Given the description of an element on the screen output the (x, y) to click on. 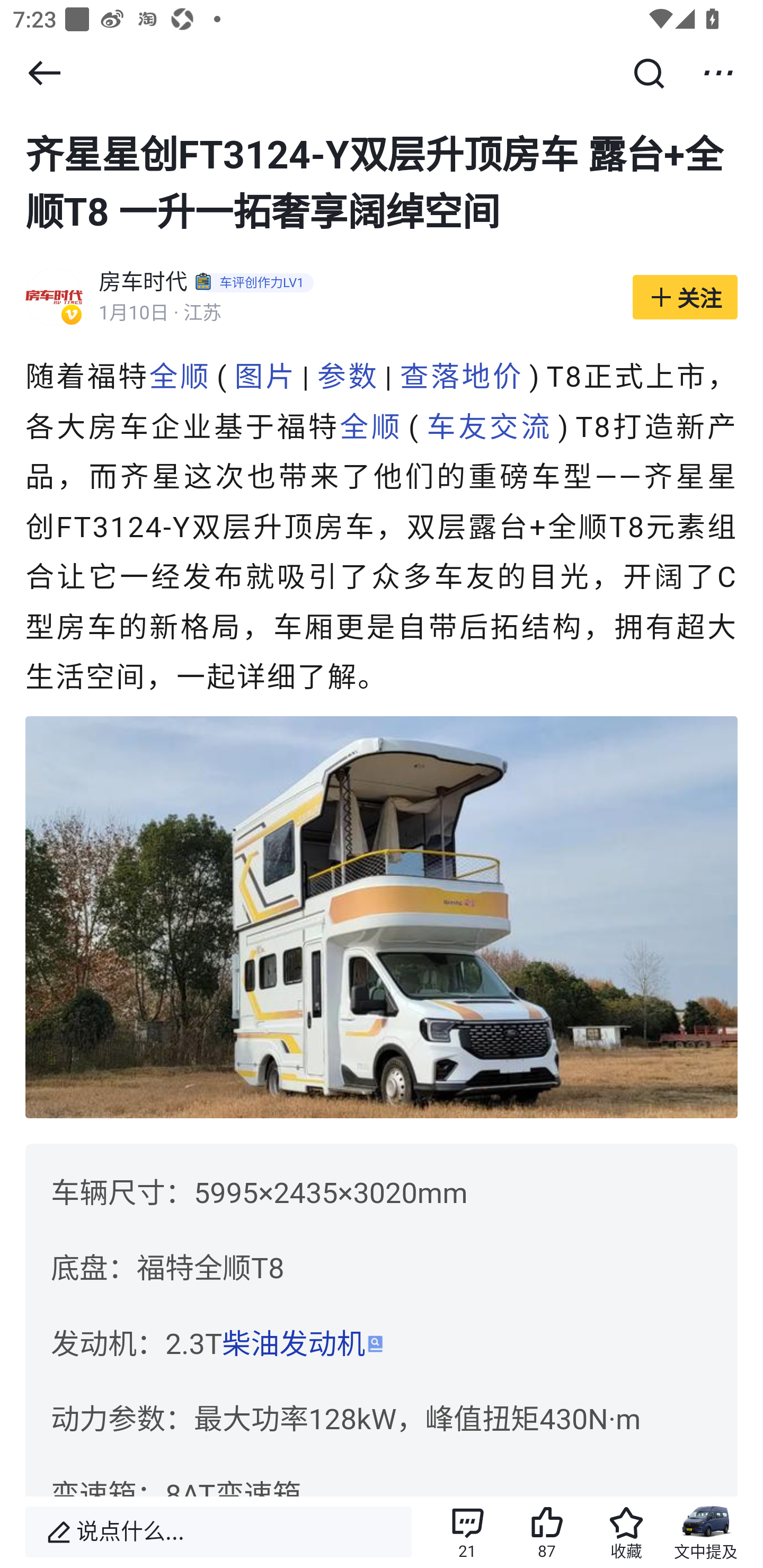
 (44, 72)
 (648, 72)
 (718, 72)
房车时代 (143, 283)
5dca4359462c211ae53ac967efc56334 车评创作力LV1 (256, 283)
关注 (684, 297)
1月10日 · 江苏 1月10日  · 江苏 (355, 314)
全顺 (179, 377)
图片 (265, 377)
参数 (347, 377)
查落地价 (461, 377)
全顺 (370, 427)
车友交流 (488, 427)
lrLFp4AcnBaB7_7od9gWD0rWmnA (381, 917)
 21 (467, 1531)
87 (546, 1531)
收藏 (625, 1531)
文中提及 (705, 1531)
 说点什么... (218, 1531)
